Given the description of an element on the screen output the (x, y) to click on. 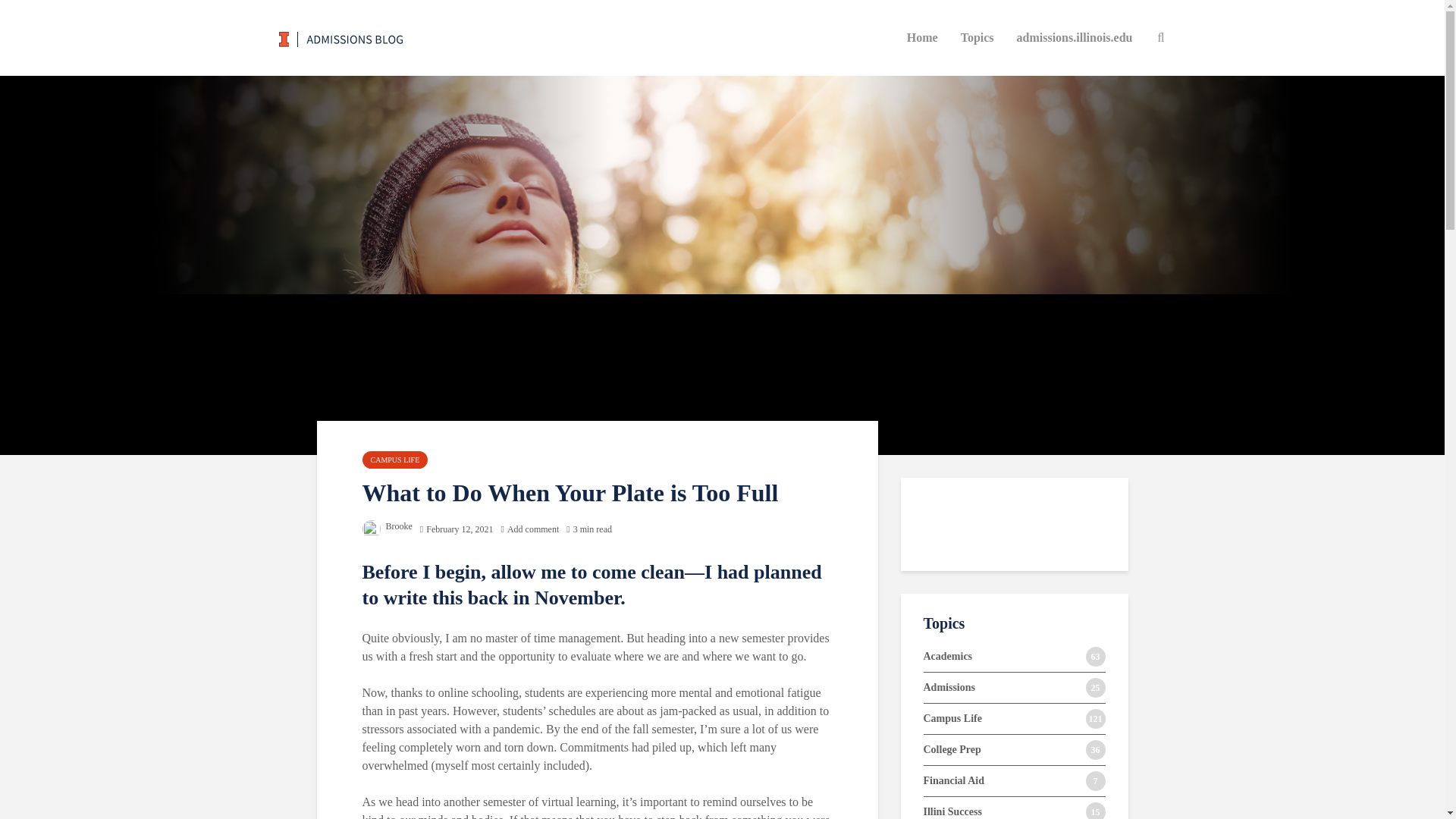
Topics (977, 37)
CAMPUS LIFE (395, 459)
Add comment (529, 529)
Home (922, 37)
admissions.illinois.edu (1075, 37)
Brooke (387, 525)
